Given the description of an element on the screen output the (x, y) to click on. 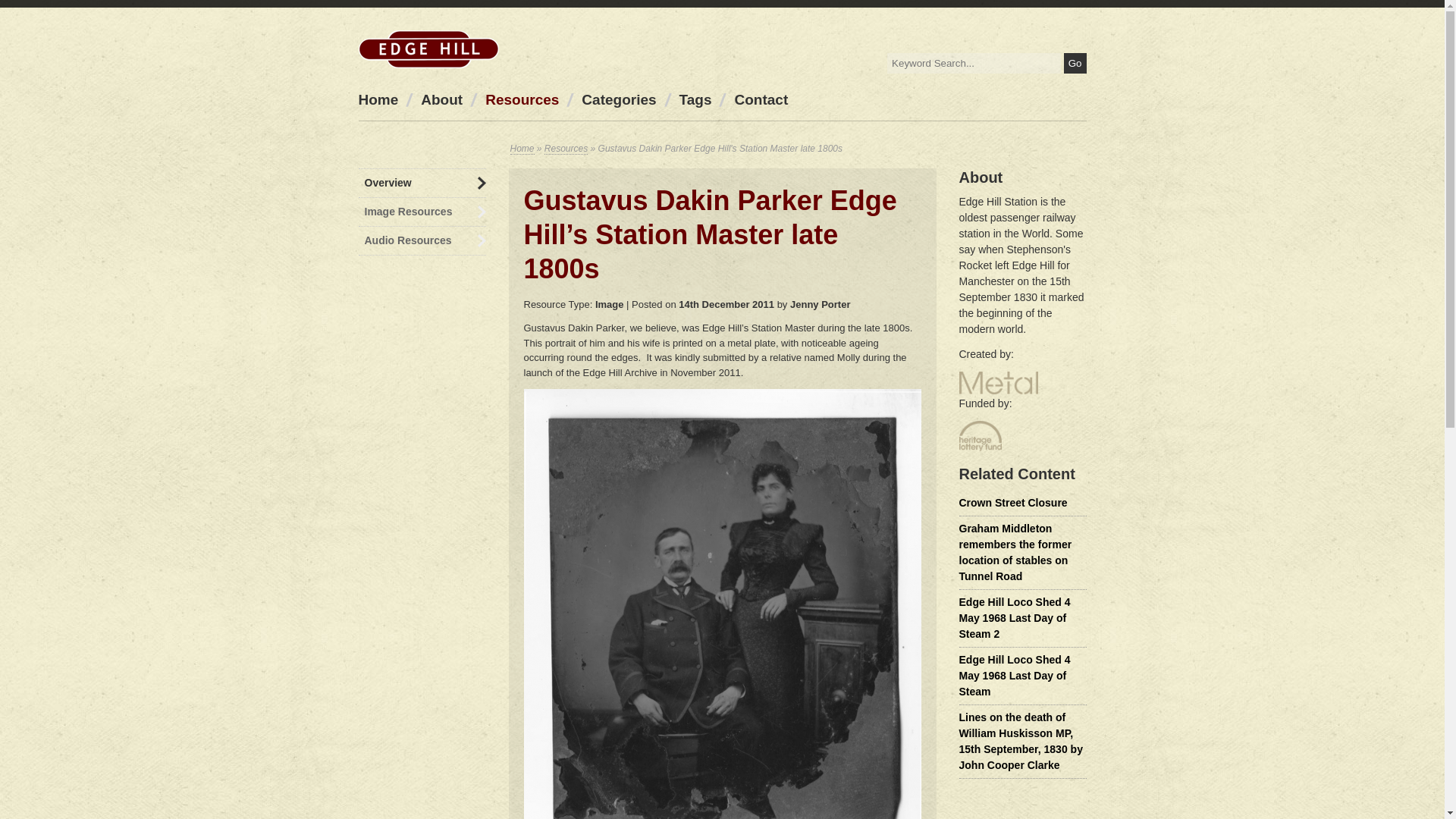
Contact (760, 99)
Go (1075, 63)
Heritage Lottery Fund (979, 435)
Home (377, 99)
Go (1075, 63)
Edge Hill Station (427, 48)
Edge Hill Loco Shed 4 May 1968 Last Day of Steam 2 (1014, 617)
Resources (521, 99)
Metal (997, 382)
Tags (695, 99)
Image Resources (421, 212)
Home (521, 148)
Overview (421, 182)
Edge Hill Station (427, 48)
